Given the description of an element on the screen output the (x, y) to click on. 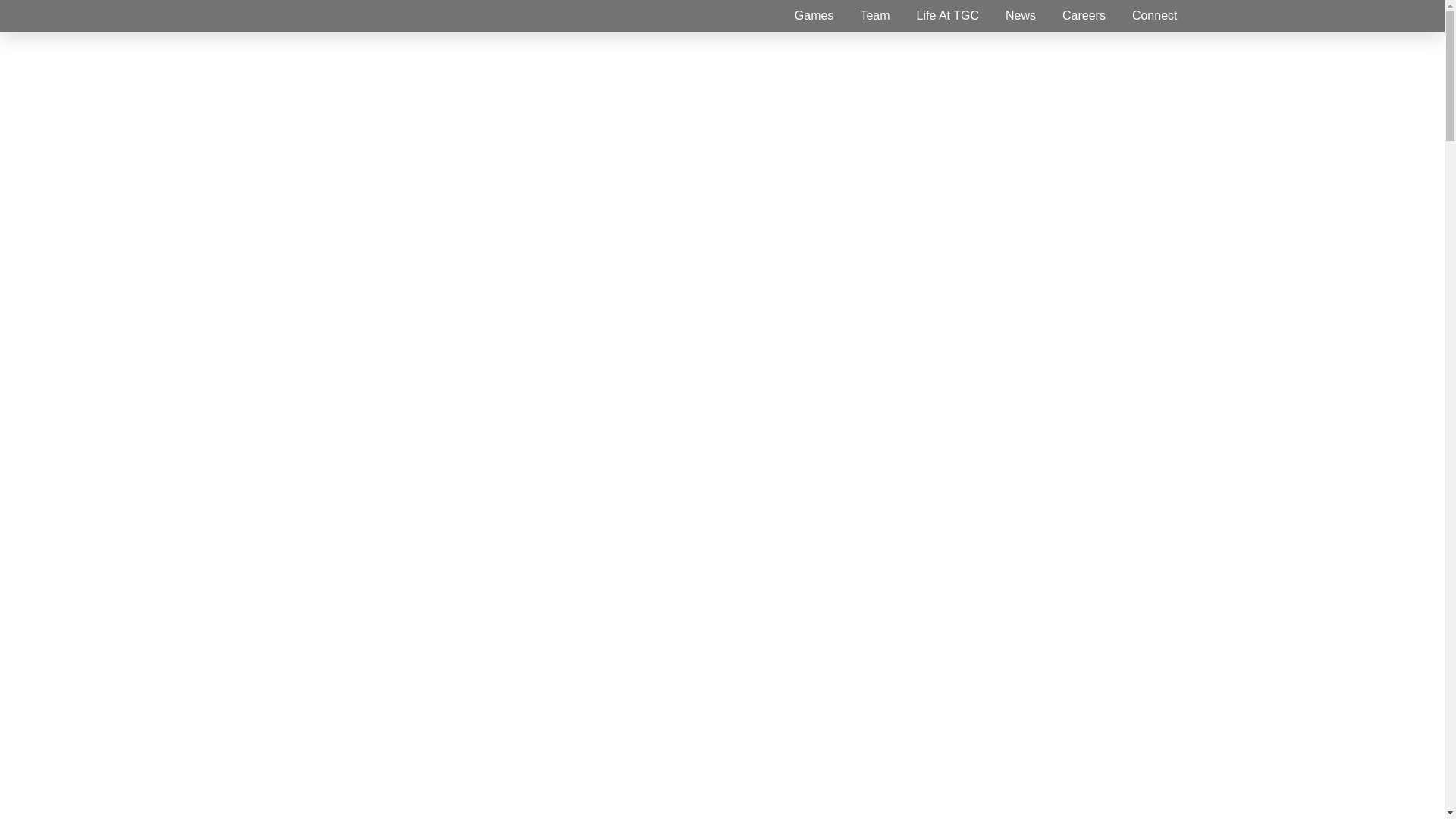
News (1020, 16)
Team (874, 16)
Careers (1083, 16)
Games (814, 16)
Connect (1154, 16)
Life At TGC (947, 15)
THATGAMECOMPANY (342, 15)
